Given the description of an element on the screen output the (x, y) to click on. 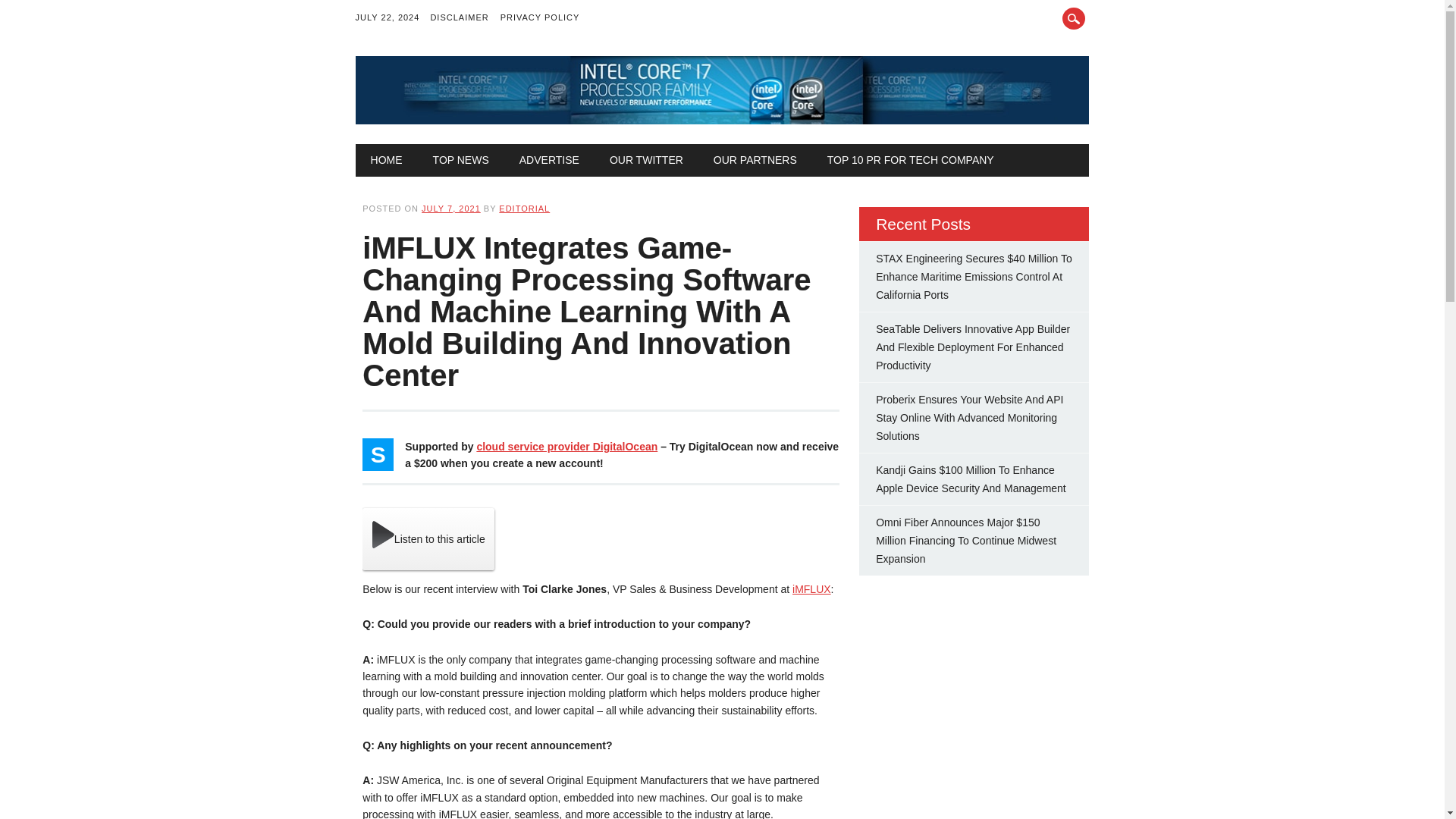
ADVERTISE (548, 160)
cloud service provider DigitalOcean (567, 446)
TOP 10 PR FOR TECH COMPANY (910, 160)
OUR PARTNERS (755, 160)
4:15 am (451, 207)
HOME (386, 160)
TOP NEWS (460, 160)
iMFLUX (811, 589)
PRIVACY POLICY (545, 17)
DISCLAIMER (464, 17)
OUR TWITTER (646, 160)
EDITORIAL (524, 207)
View all posts by Editorial (524, 207)
